Given the description of an element on the screen output the (x, y) to click on. 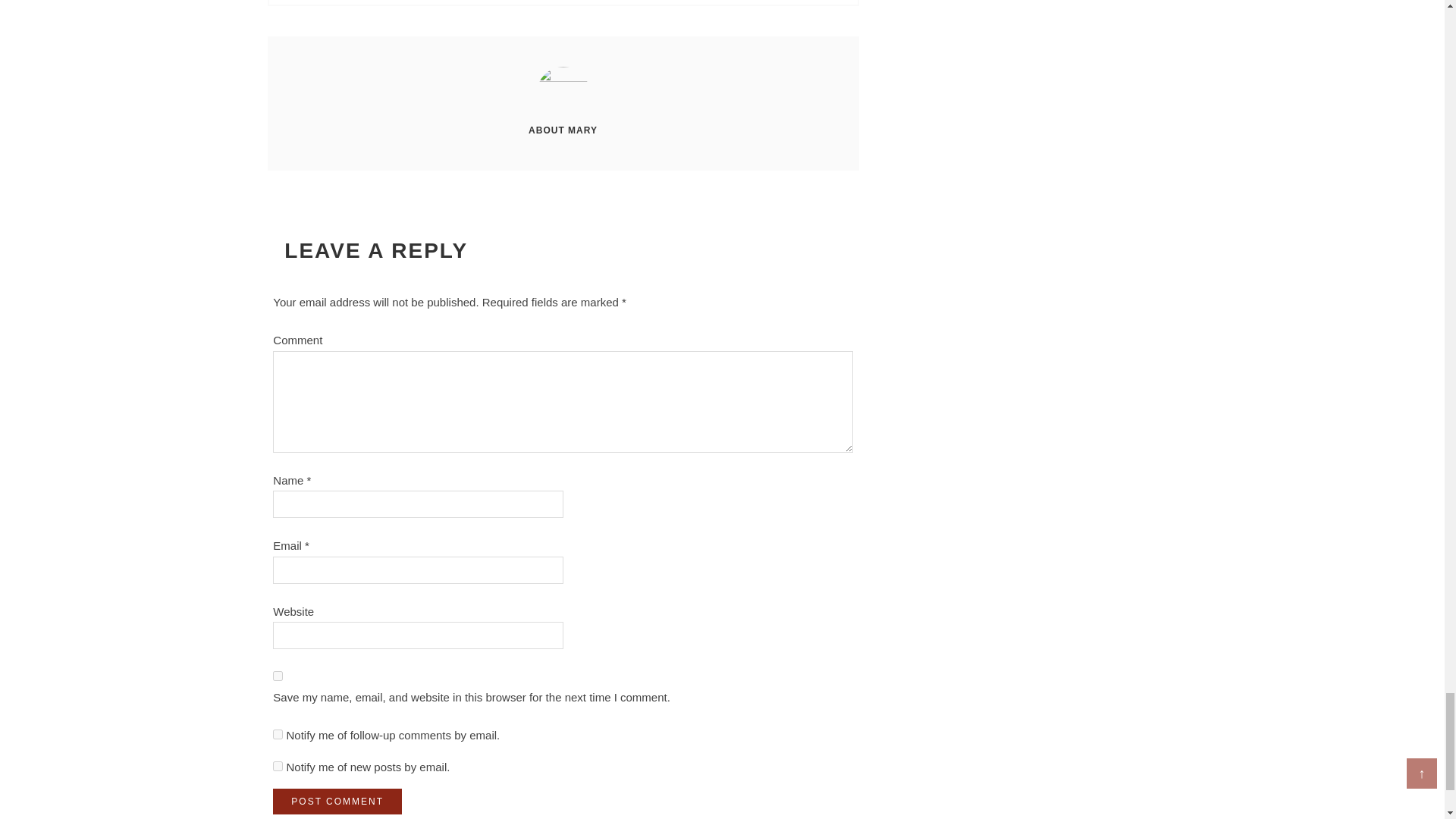
Post Comment (337, 801)
subscribe (277, 734)
subscribe (277, 766)
yes (277, 675)
